Given the description of an element on the screen output the (x, y) to click on. 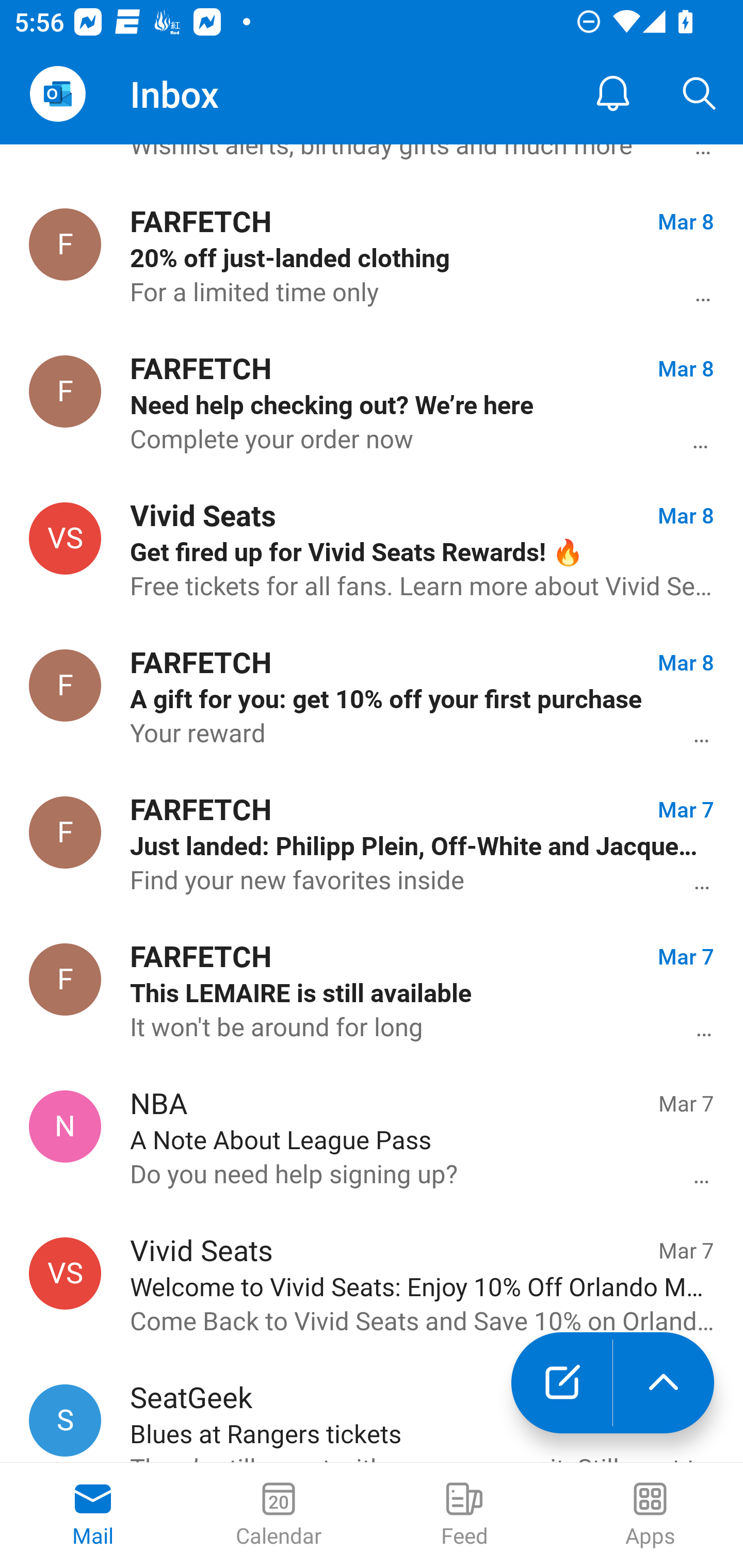
Notification Center (612, 93)
Search, ,  (699, 93)
Open Navigation Drawer (57, 94)
FARFETCH, farfetch@email.farfetch.com (64, 244)
FARFETCH, farfetch@email.farfetch.com (64, 391)
Vivid Seats, tickets@live.vividseats.com (64, 537)
FARFETCH, farfetch@email.farfetch.com (64, 685)
FARFETCH, farfetch@email.farfetch.com (64, 832)
FARFETCH, farfetch@email.farfetch.com (64, 979)
NBA, NBA@email.nba.com (64, 1125)
Vivid Seats, tickets@live.vividseats.com (64, 1273)
New mail (561, 1382)
launch the extended action menu (663, 1382)
SeatGeek, events@seatgeek.com (64, 1420)
Calendar (278, 1515)
Feed (464, 1515)
Apps (650, 1515)
